Given the description of an element on the screen output the (x, y) to click on. 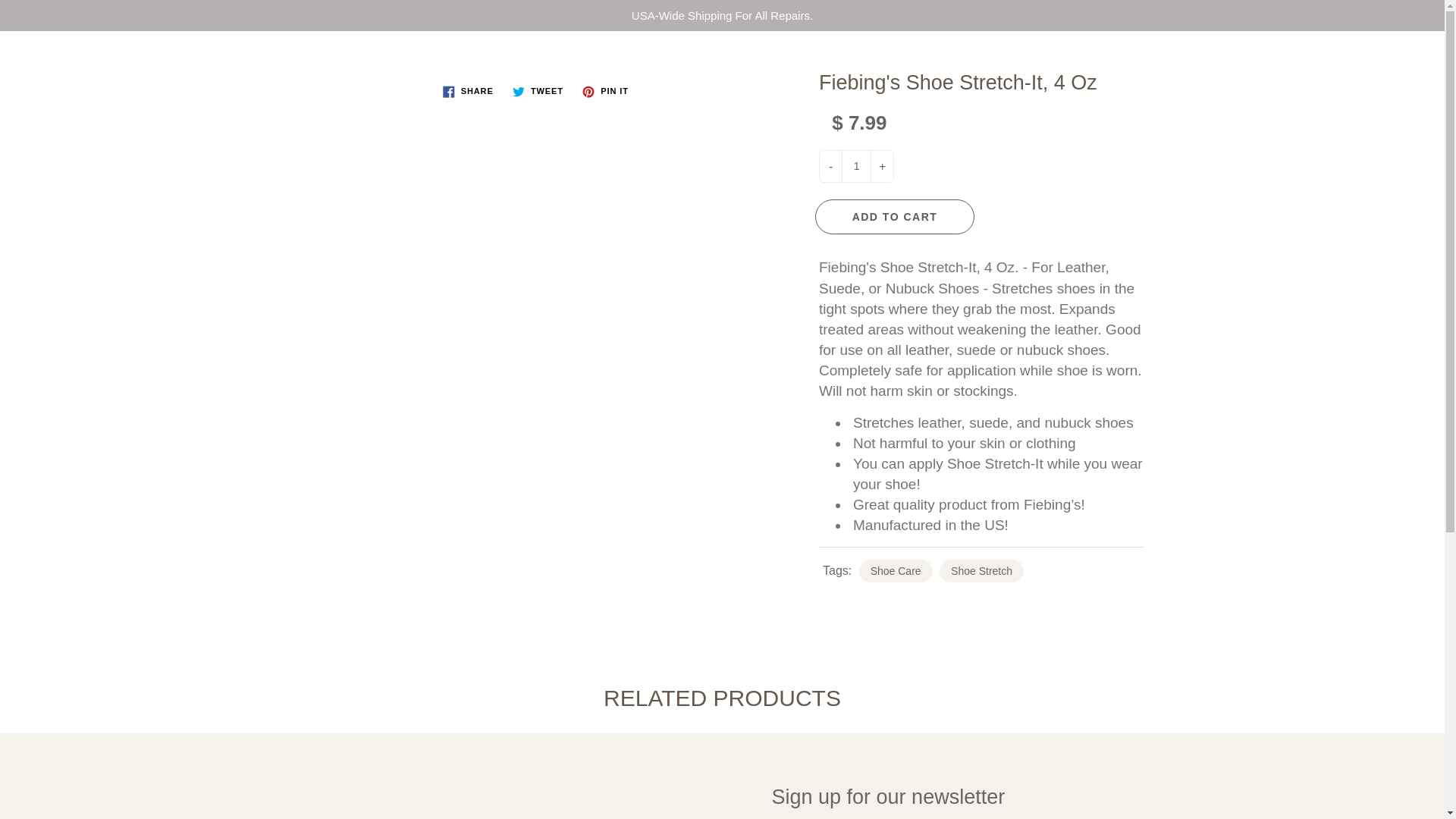
1 (855, 165)
REPAIR (370, 134)
Share on Facebook (467, 90)
My account (1379, 56)
HOME (278, 134)
Search (28, 56)
You have 0 items in your cart (1417, 56)
Tweet on Twitter (537, 90)
Pin on Pinterest (604, 90)
